Given the description of an element on the screen output the (x, y) to click on. 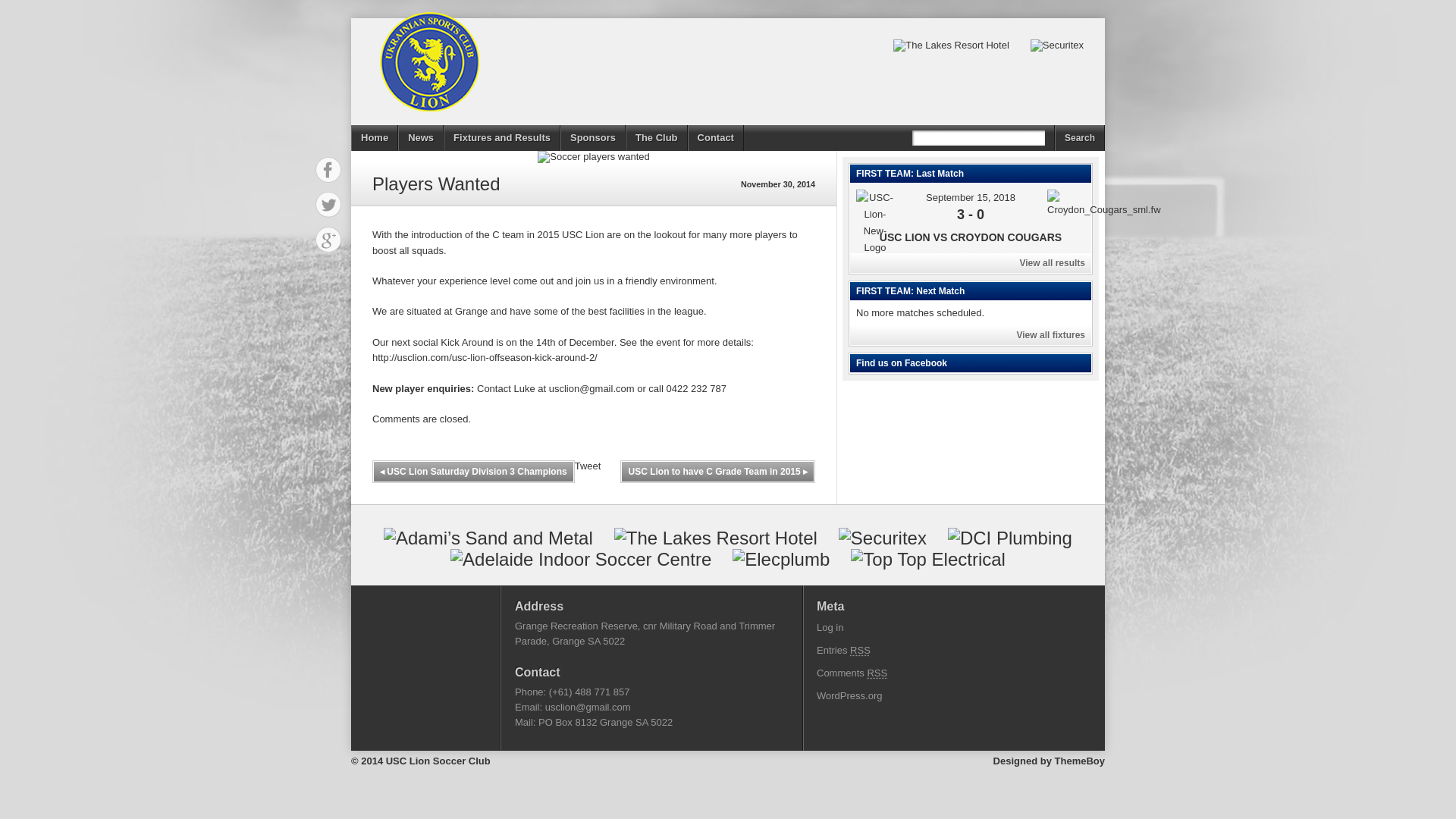
Twitter (328, 204)
Tweet (588, 465)
Comments RSS (851, 672)
Fixtures and Results (501, 137)
Search (1079, 137)
Securitex (1056, 45)
September 15, 2018 (970, 197)
WordPress.org (849, 695)
Twitter (328, 204)
Contact (715, 137)
Search (1079, 137)
Log in (829, 627)
The Lakes Resort Hotel (951, 45)
The Club (656, 137)
USC LION VS CROYDON COUGARS (970, 236)
